Given the description of an element on the screen output the (x, y) to click on. 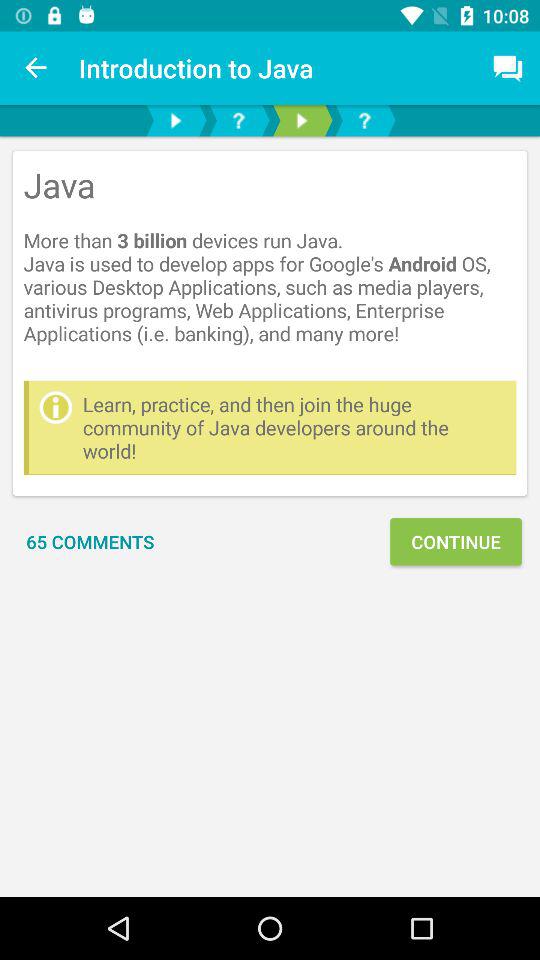
jump until the java  more (269, 265)
